Given the description of an element on the screen output the (x, y) to click on. 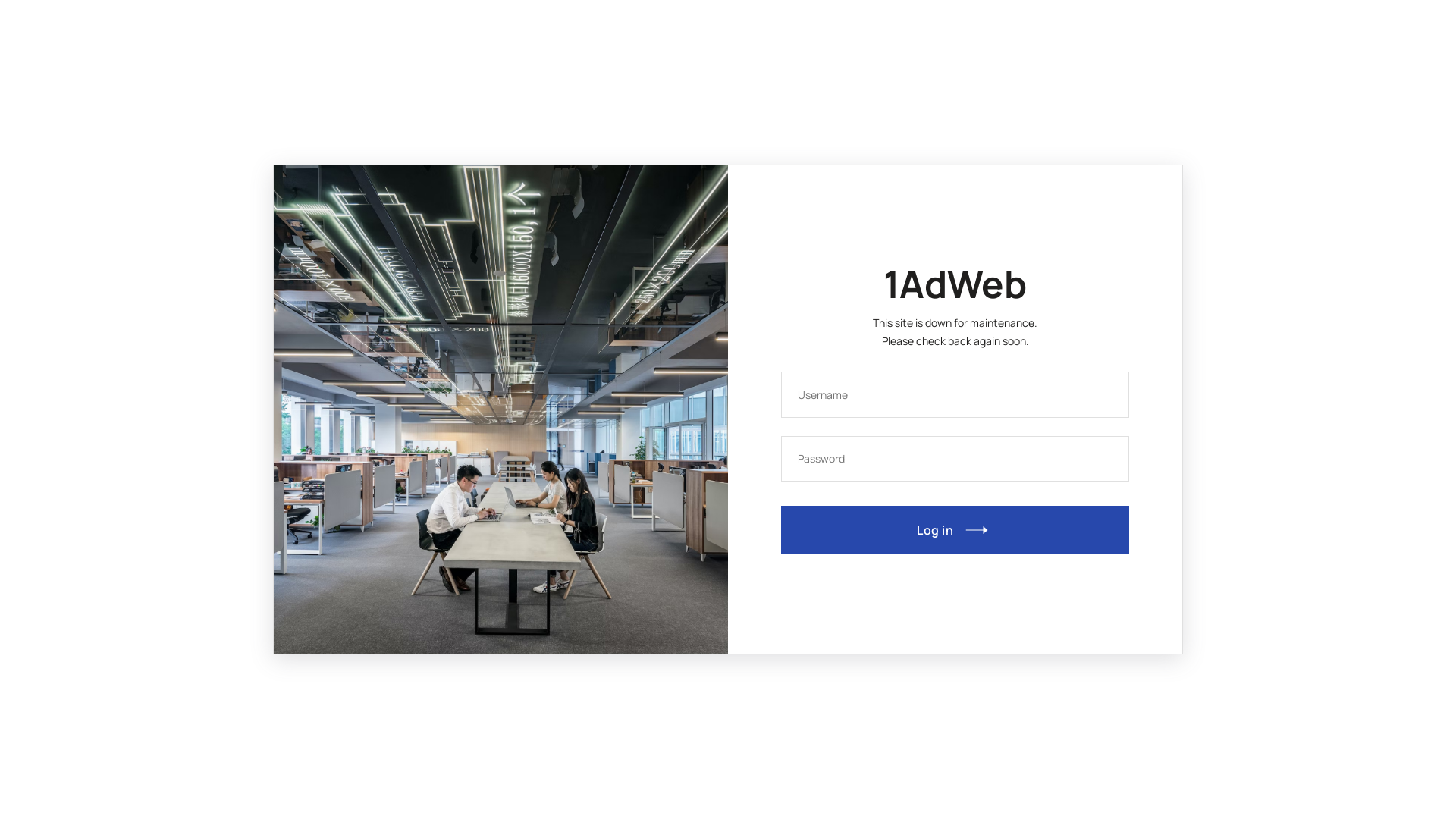
Log in Element type: text (955, 529)
